Given the description of an element on the screen output the (x, y) to click on. 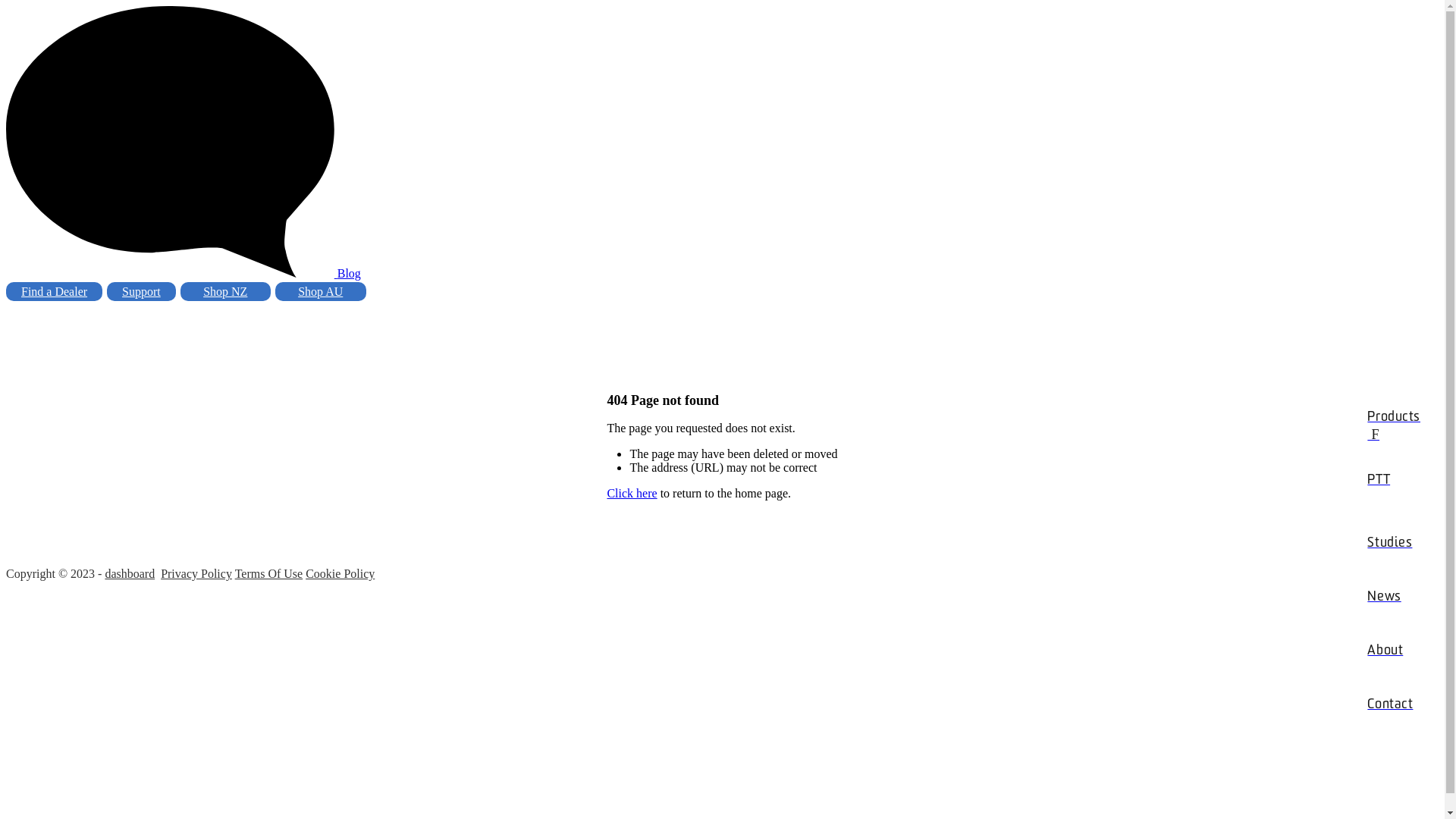
Shop NZ Element type: text (225, 291)
Contact Element type: text (1393, 696)
News Element type: text (1393, 596)
Find a Dealer Element type: text (54, 291)
Privacy Policy Element type: text (196, 573)
Click here Element type: text (631, 492)
dashboard Element type: text (129, 573)
PTT Element type: text (1393, 479)
About Element type: text (1393, 650)
Blog Element type: text (348, 272)
Terms Of Use Element type: text (269, 573)
Cookie Policy Element type: text (339, 573)
Shop AU Element type: text (320, 291)
Products
 F Element type: text (1393, 416)
Rocketspark website builder Element type: hover (1362, 578)
POWERED BY ROCKETSPARK Element type: text (458, 561)
Support Element type: text (140, 291)
Studies Element type: text (1393, 542)
